Given the description of an element on the screen output the (x, y) to click on. 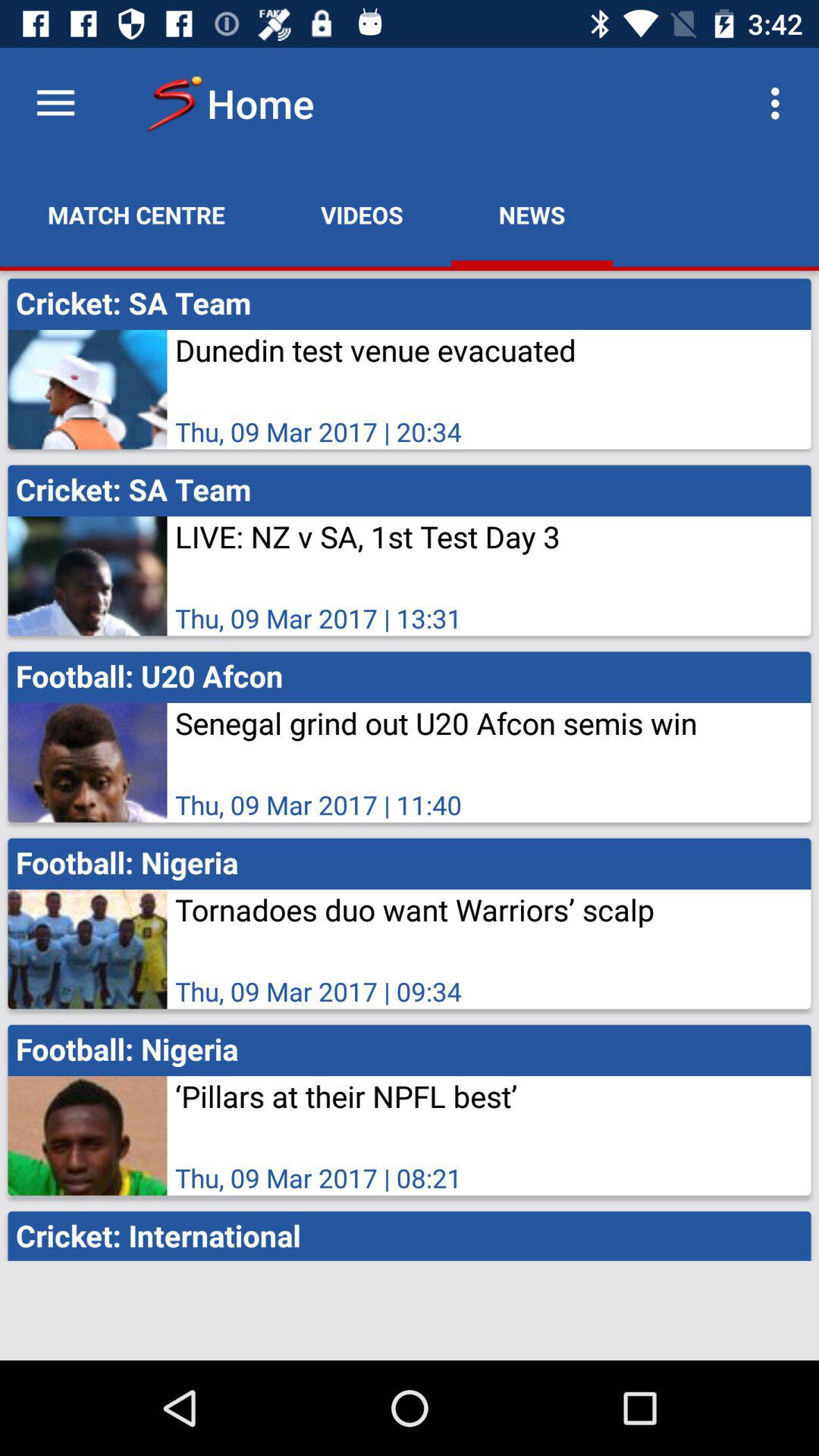
tap the icon next to videos app (136, 214)
